Given the description of an element on the screen output the (x, y) to click on. 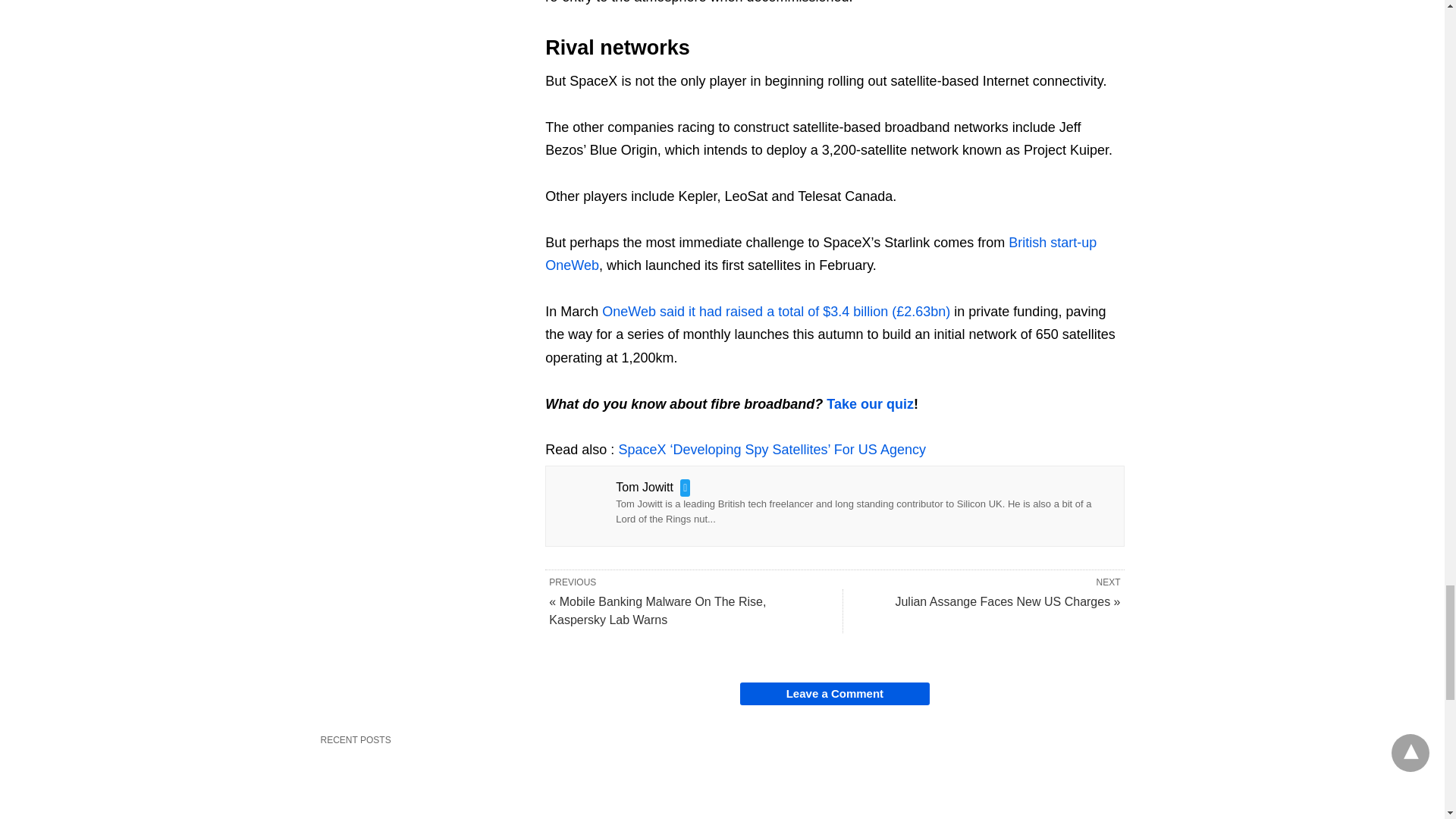
Leave a Comment (834, 693)
British start-up OneWeb (820, 254)
Take our quiz (870, 403)
Leave a Comment (834, 693)
